Given the description of an element on the screen output the (x, y) to click on. 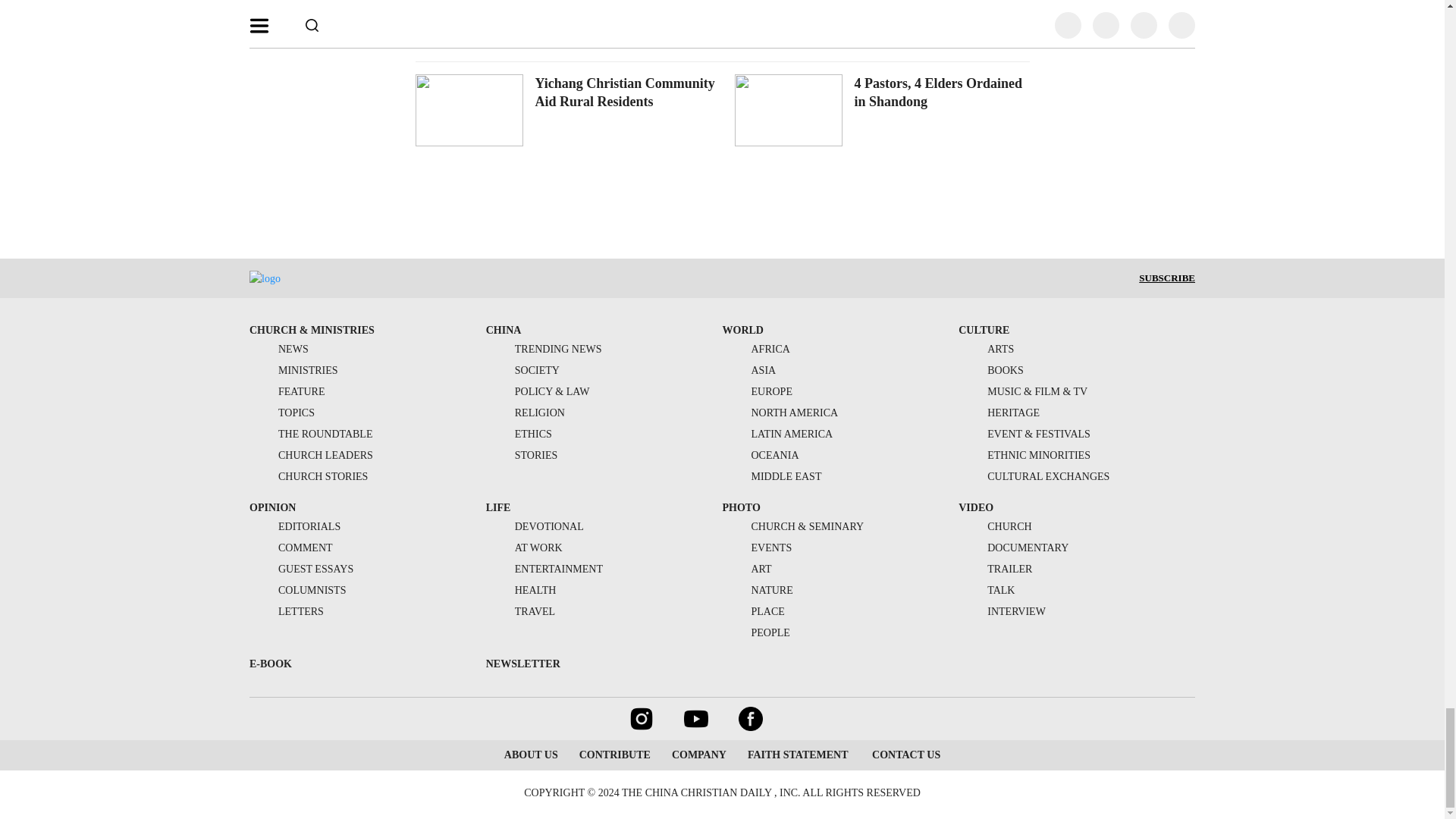
NEWS (278, 348)
CHURCH LEADERS (310, 455)
4 Pastors, 4 Elders Ordained in Shandong (937, 92)
THE ROUNDTABLE (310, 433)
Yichang Christian Community Aid Rural Residents (624, 92)
CHURCH STORIES (308, 476)
91 Seekers Baptized at Ningbo Megachurch (919, 4)
TOPICS (281, 412)
MINISTRIES (292, 369)
